Given the description of an element on the screen output the (x, y) to click on. 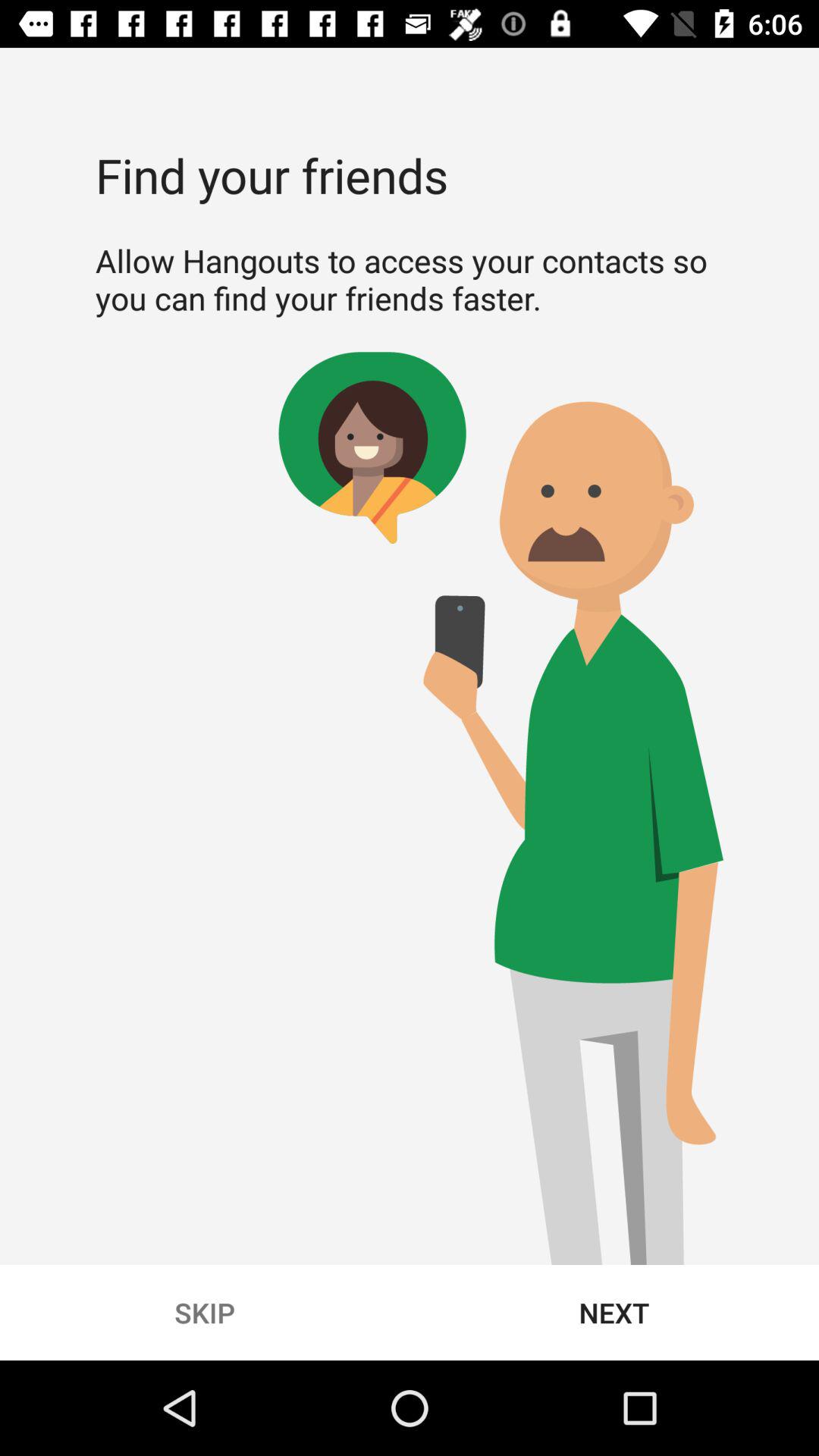
click item next to the skip icon (614, 1312)
